Given the description of an element on the screen output the (x, y) to click on. 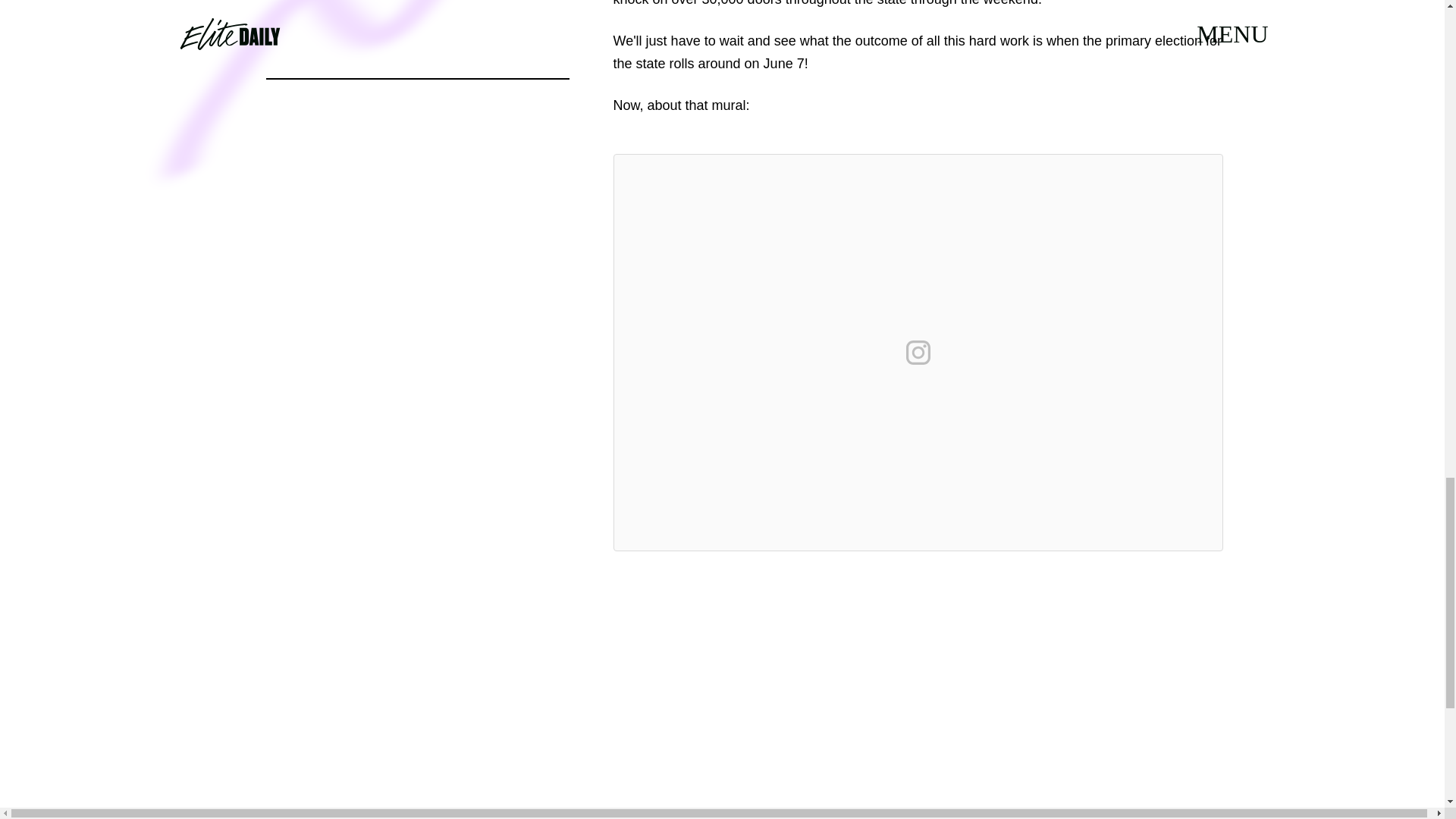
View on Instagram (917, 352)
